Given the description of an element on the screen output the (x, y) to click on. 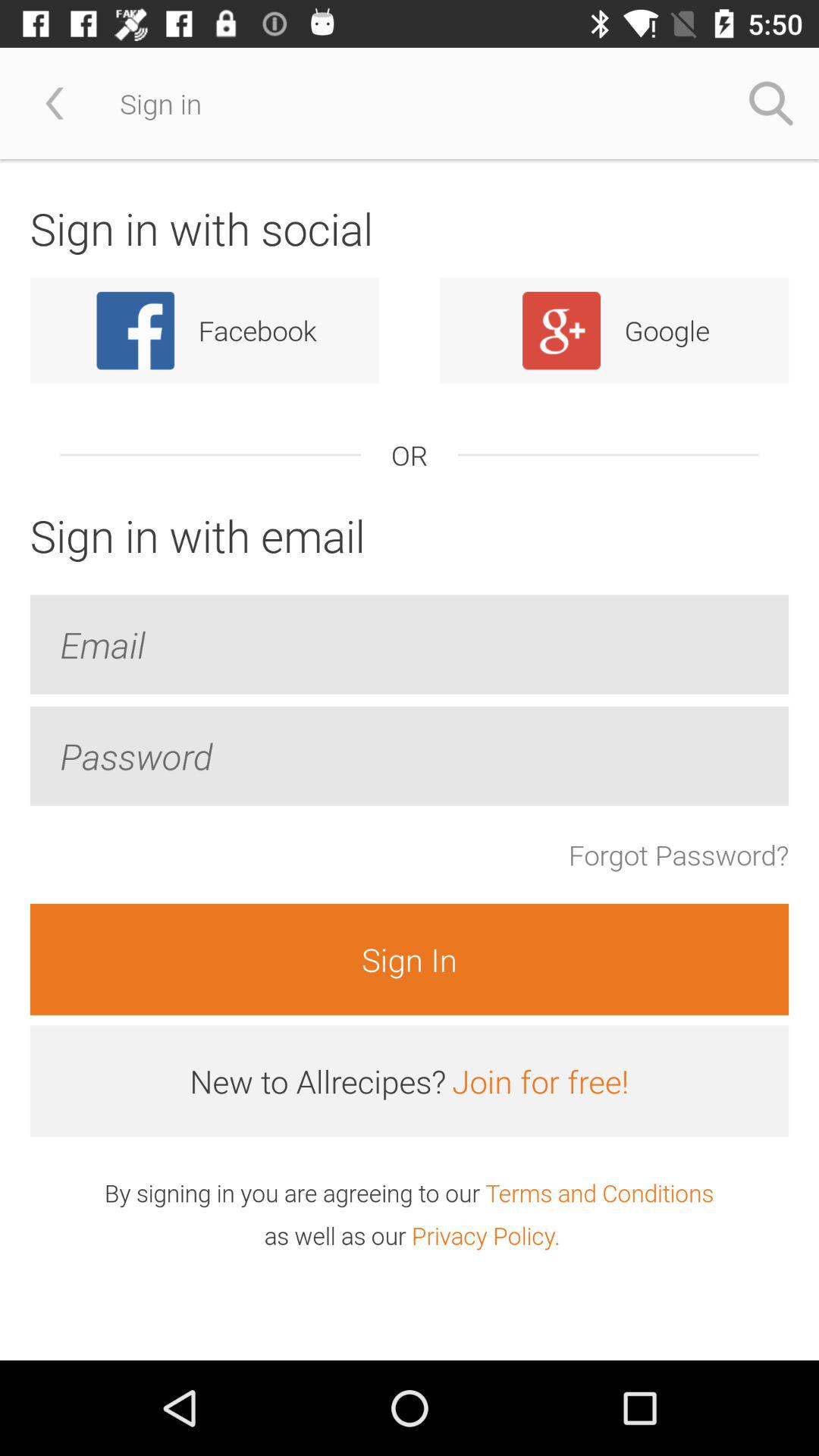
choose item above sign in with item (55, 103)
